Given the description of an element on the screen output the (x, y) to click on. 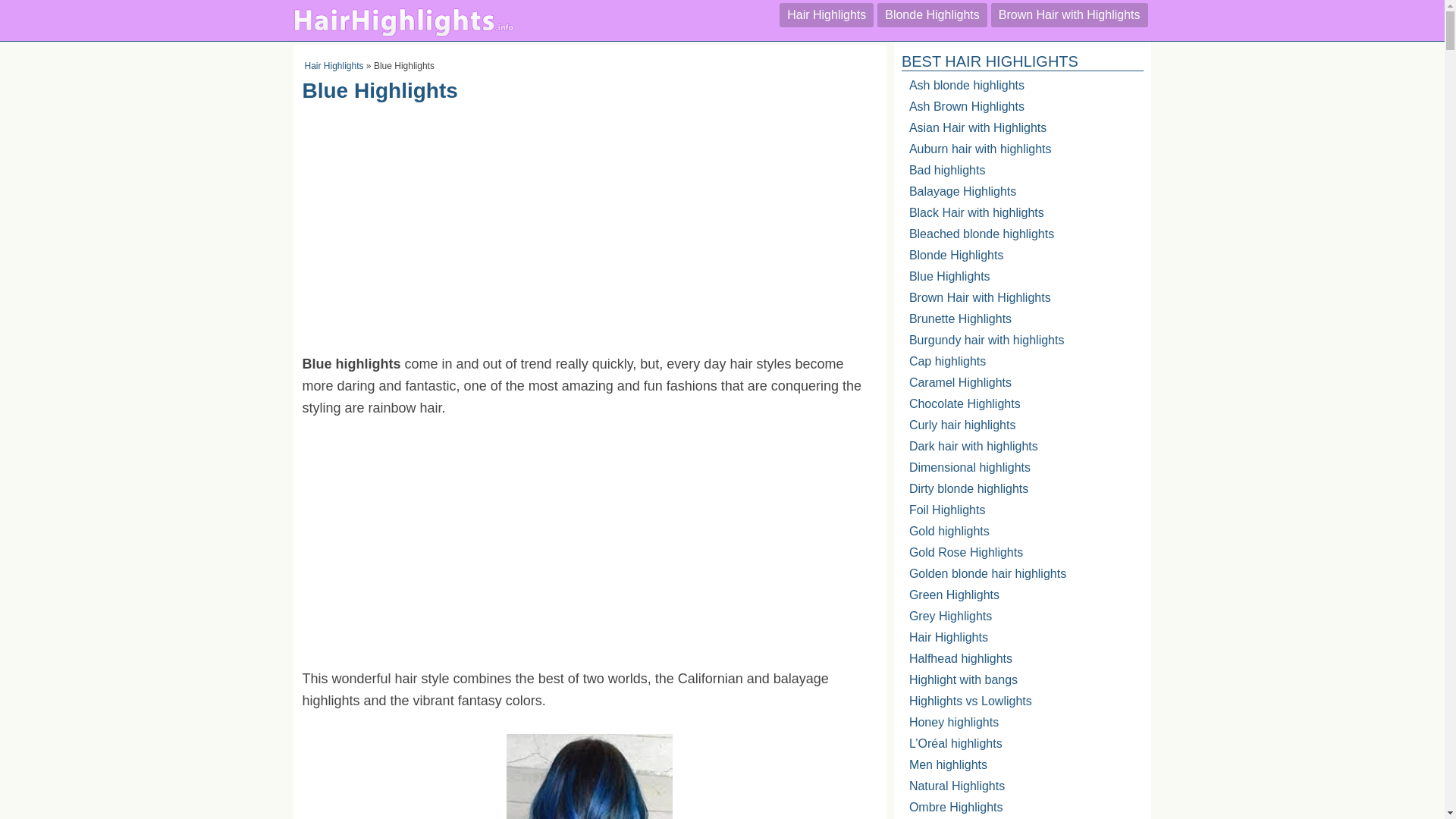
Bad highlights (1022, 174)
Advertisement (588, 553)
Auburn hair with highlights (1022, 152)
Hair Highlights (825, 15)
Blonde Highlights (1022, 259)
Burgundy hair with highlights (1022, 343)
Hair Highlights (334, 65)
Brunette Highlights (1022, 322)
Brown Hair with Highlights (1022, 301)
Blonde Highlights (932, 15)
